Given the description of an element on the screen output the (x, y) to click on. 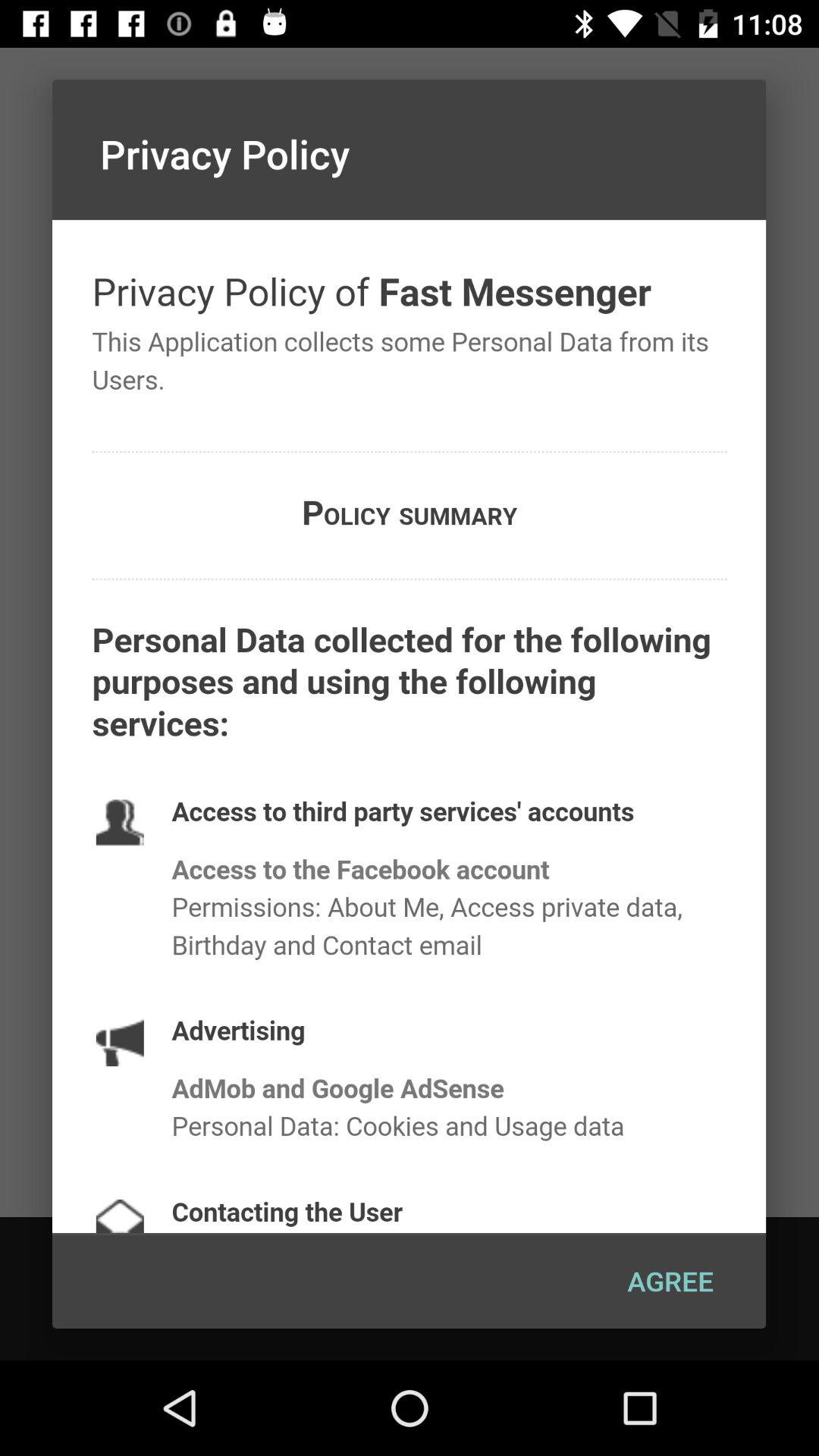
opens policy to scroll (409, 726)
